Given the description of an element on the screen output the (x, y) to click on. 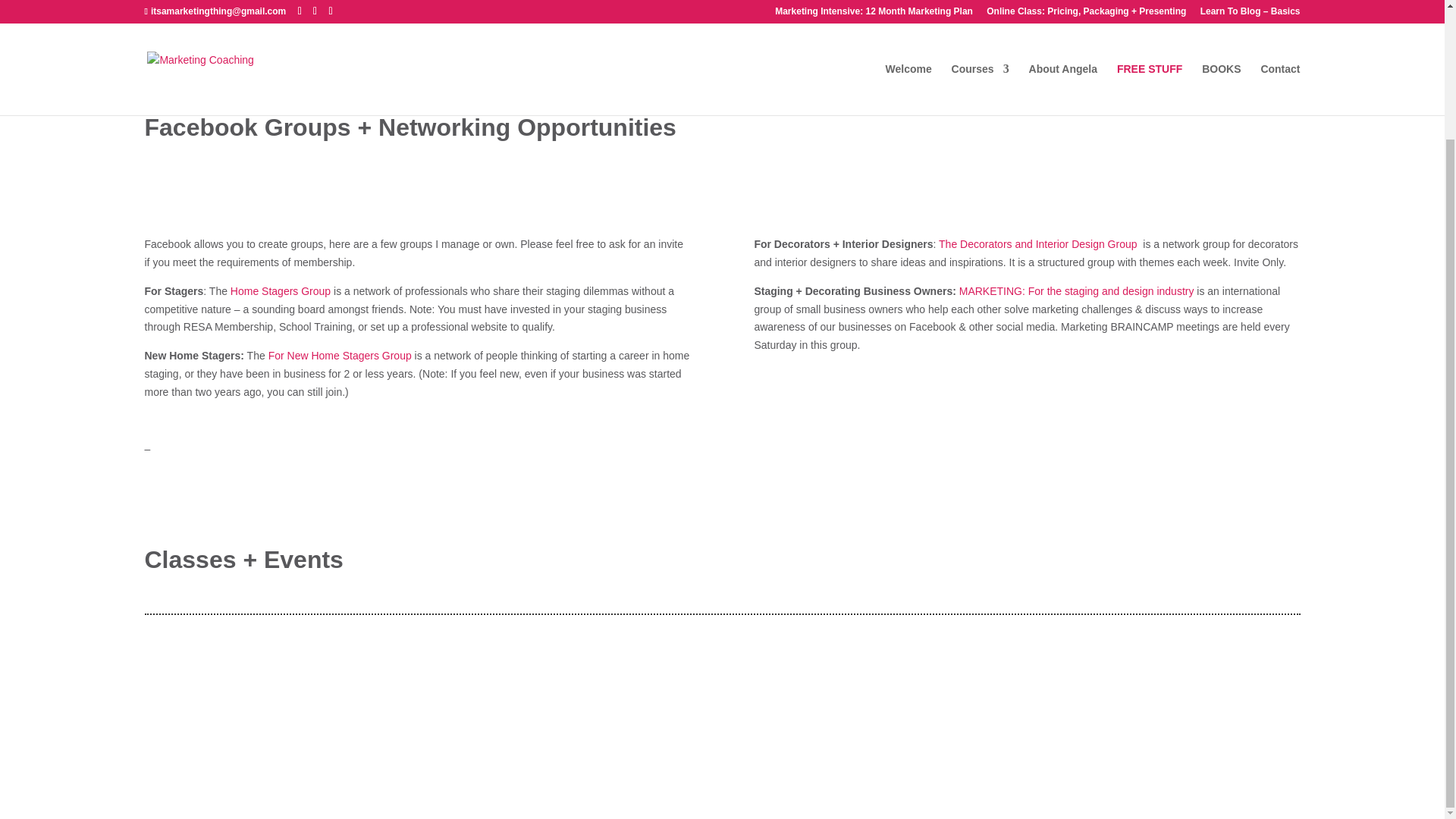
For New Home Stagers Group (340, 355)
The Decorators and Interior Design Group (1038, 244)
MARKETING: For the staging and design industry (1076, 291)
Home Stagers Group (280, 291)
